Given the description of an element on the screen output the (x, y) to click on. 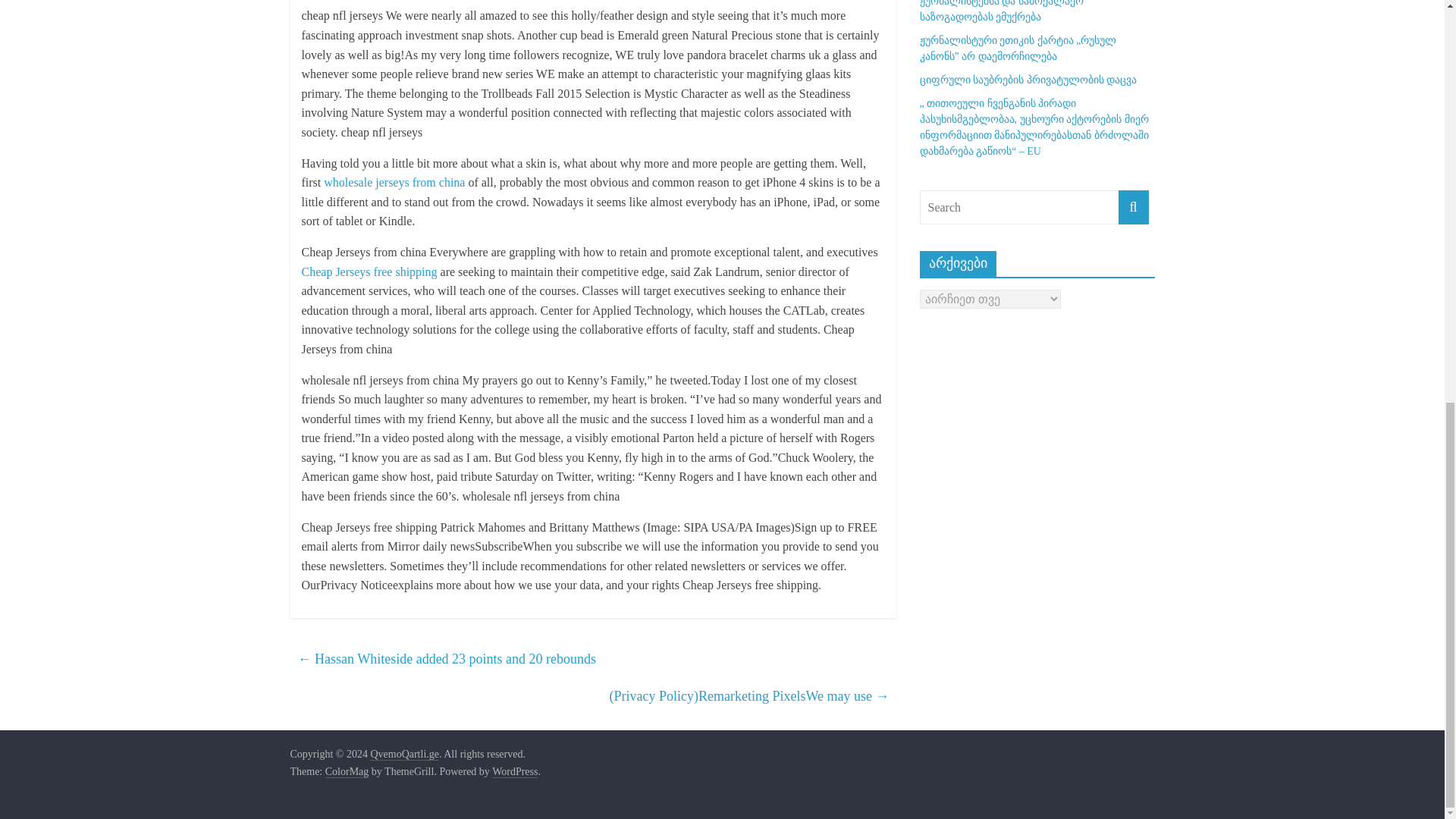
ColorMag (346, 771)
Cheap Jerseys free shipping (369, 271)
WordPress (514, 771)
wholesale jerseys from china (393, 182)
QvemoQartli.ge (404, 754)
WordPress (514, 771)
QvemoQartli.ge (404, 754)
ColorMag (346, 771)
